Given the description of an element on the screen output the (x, y) to click on. 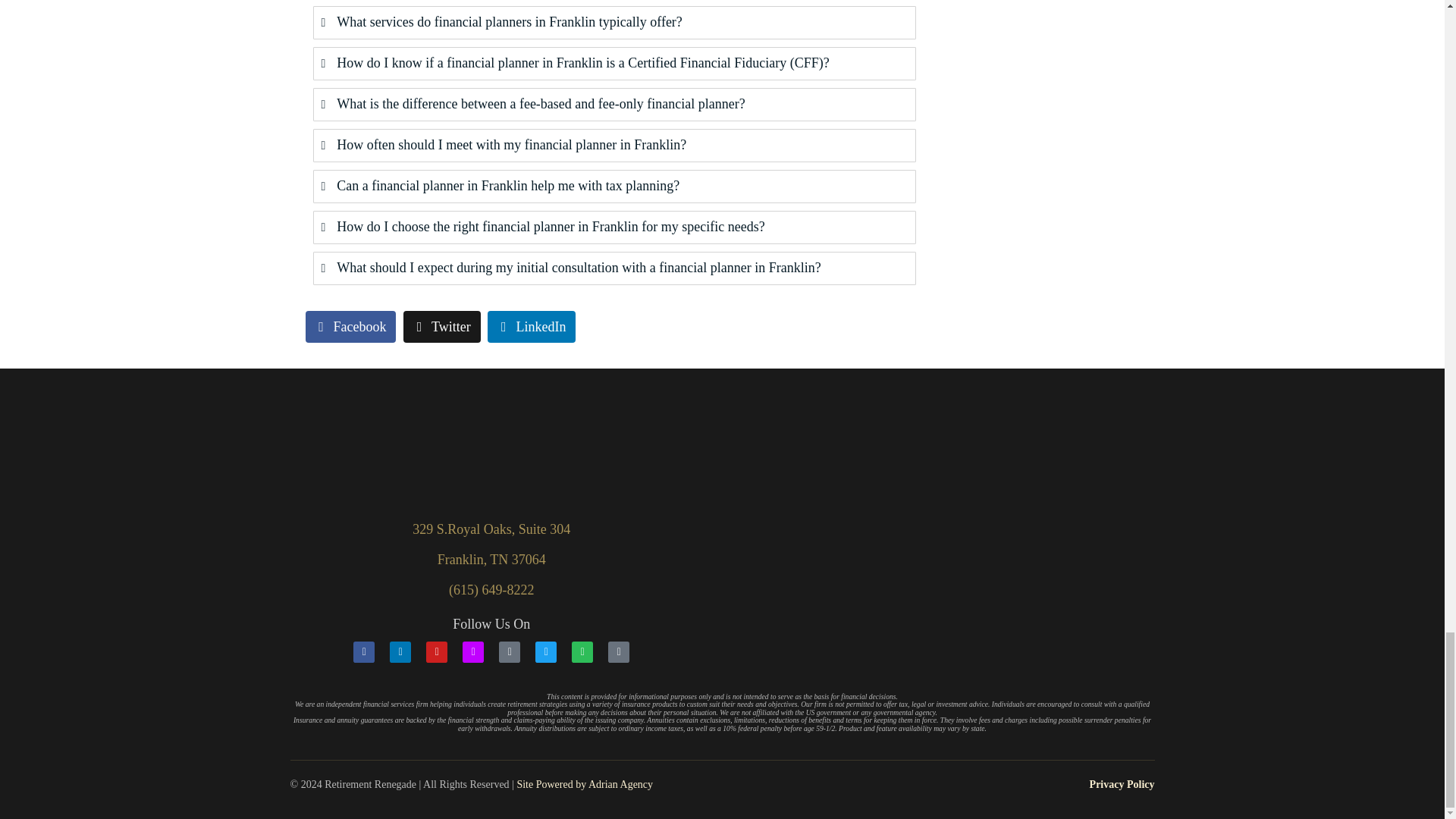
329 S. Royal Oaks, Suite 304, Franklin, TN 37064 (923, 550)
Facebook (350, 327)
Twitter (441, 327)
LinkedIn (531, 327)
